Given the description of an element on the screen output the (x, y) to click on. 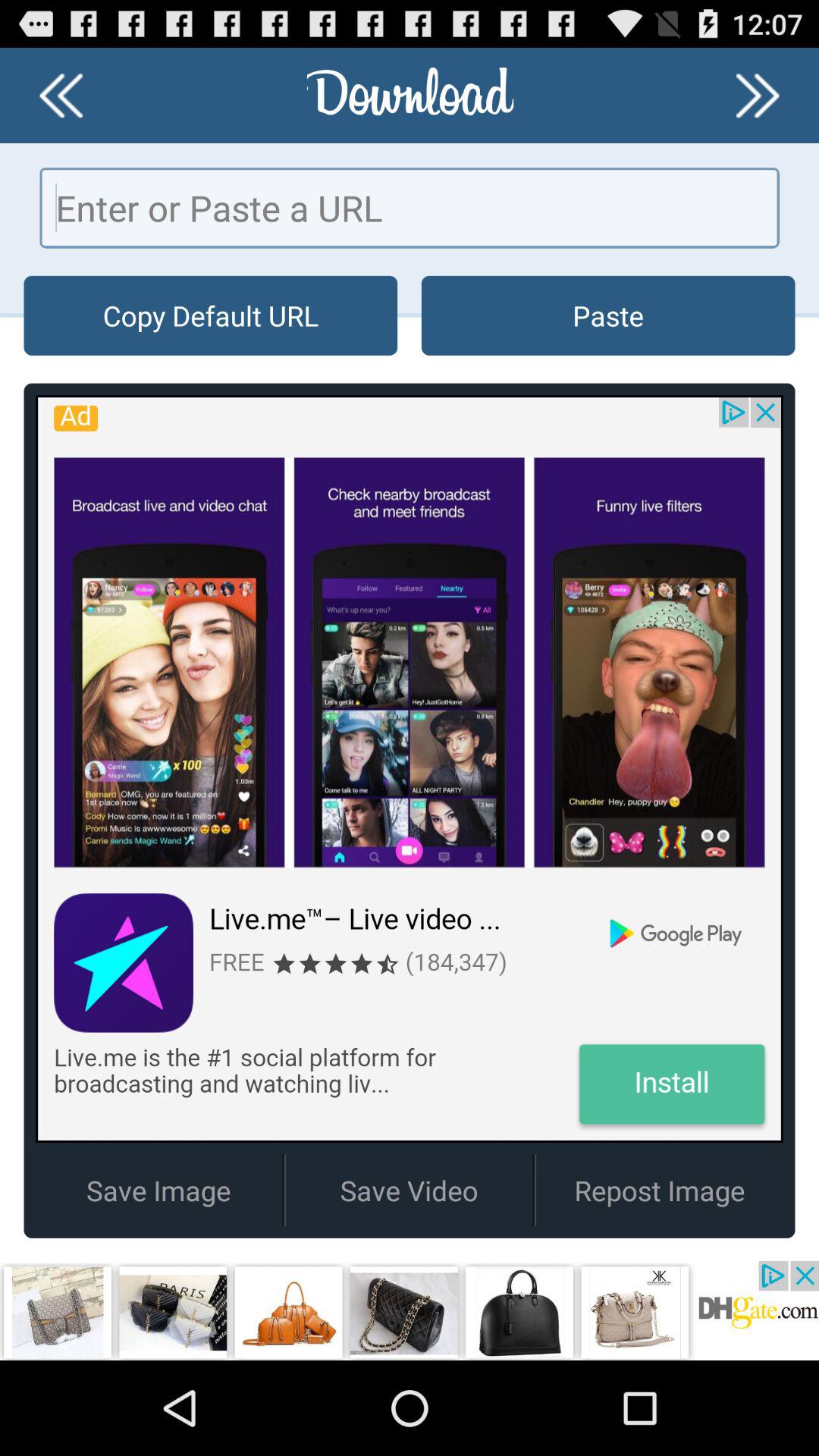
back (61, 95)
